Given the description of an element on the screen output the (x, y) to click on. 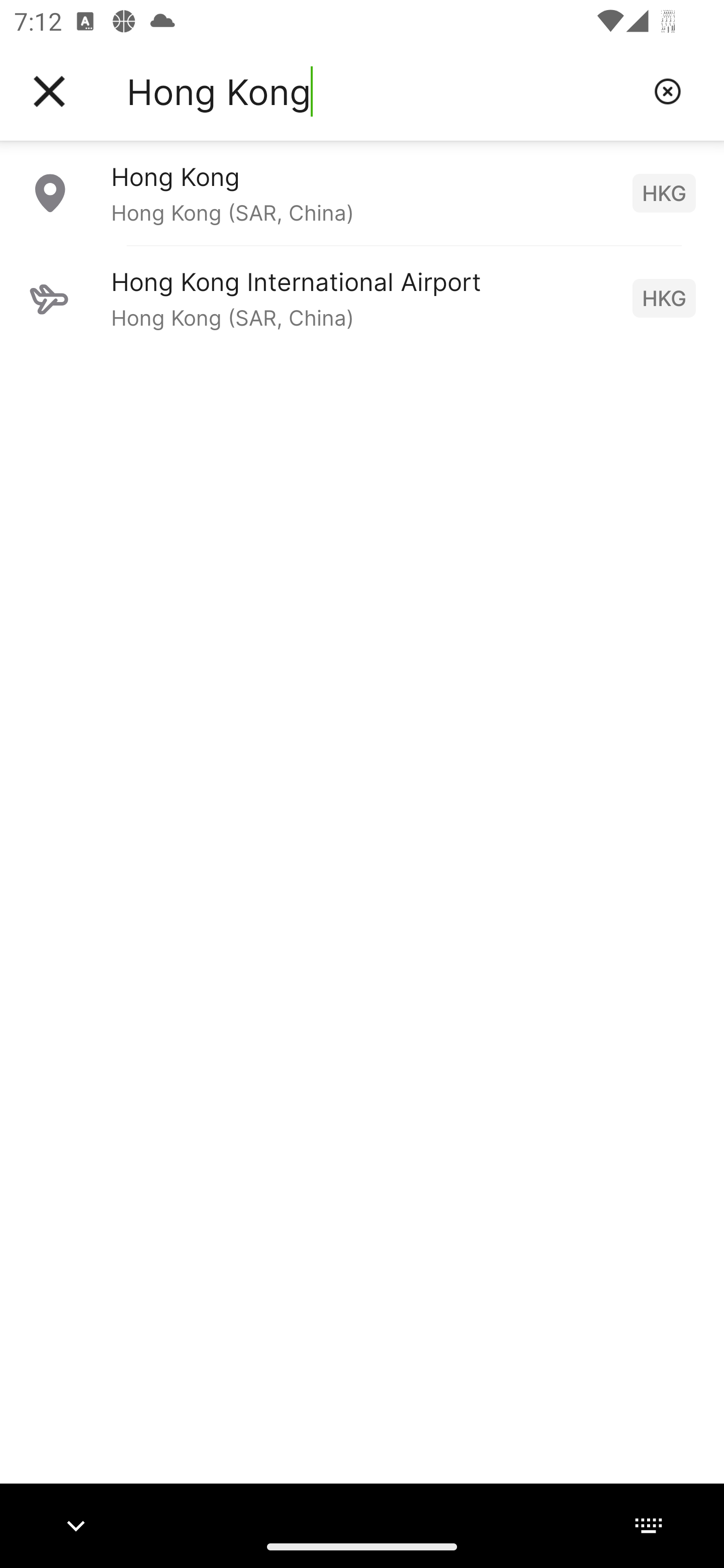
Hong Kong (382, 91)
Hong Kong Hong Kong (SAR, China) HKG (362, 192)
